Given the description of an element on the screen output the (x, y) to click on. 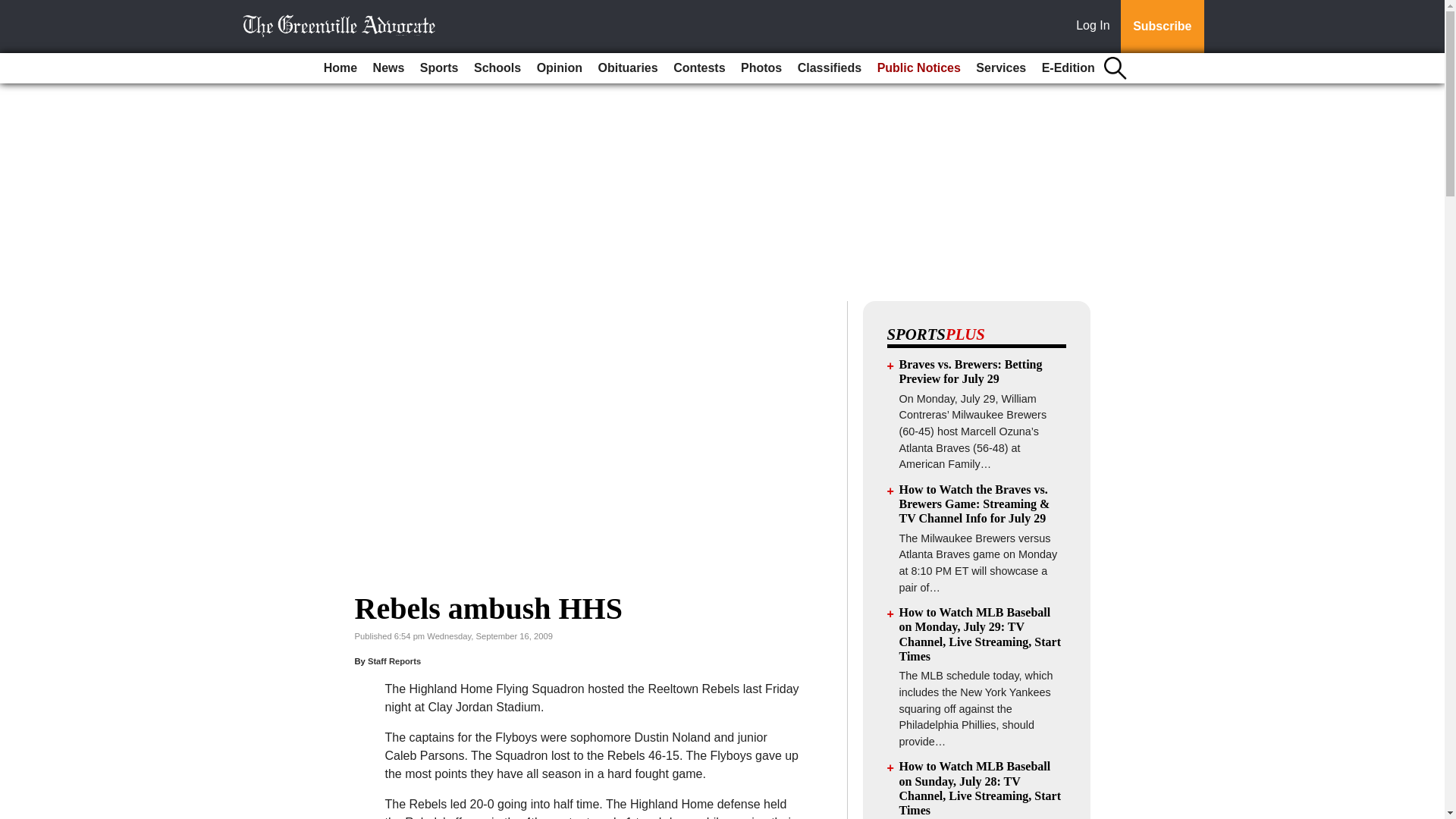
Opinion (559, 68)
Home (339, 68)
Schools (497, 68)
Log In (1095, 26)
Public Notices (918, 68)
Photos (761, 68)
Sports (438, 68)
Braves vs. Brewers: Betting Preview for July 29 (970, 370)
Staff Reports (394, 660)
Services (1000, 68)
Contests (698, 68)
Subscribe (1162, 26)
Classifieds (829, 68)
